Given the description of an element on the screen output the (x, y) to click on. 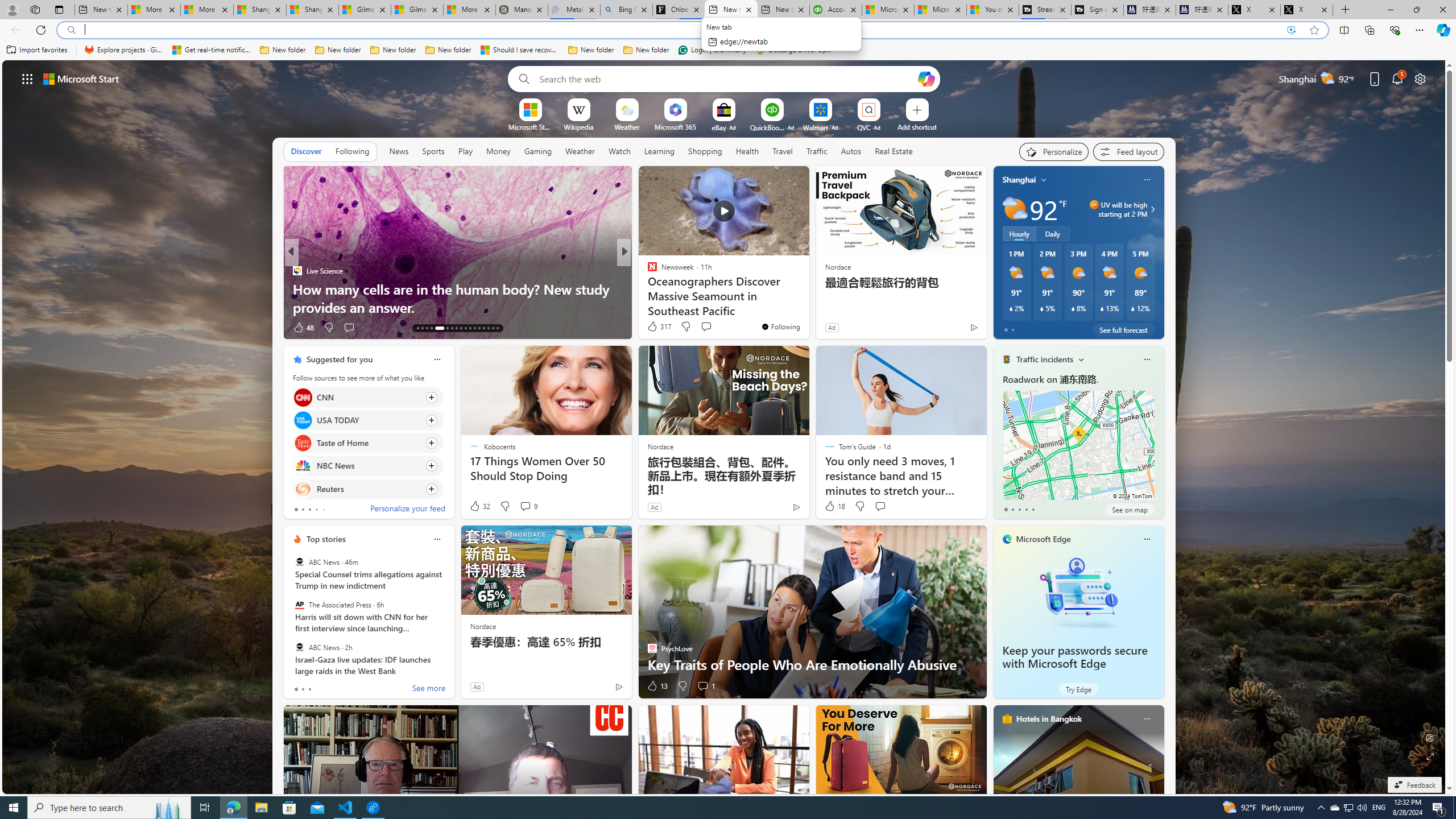
Click to follow source CNN (367, 397)
Enter your search term (726, 78)
tab-3 (1025, 509)
Reuters (302, 488)
18 Like (834, 505)
Live Science (296, 270)
Keep your passwords secure with Microsoft Edge (1074, 657)
AutomationID: tab-19 (451, 328)
13 Like (657, 685)
